Given the description of an element on the screen output the (x, y) to click on. 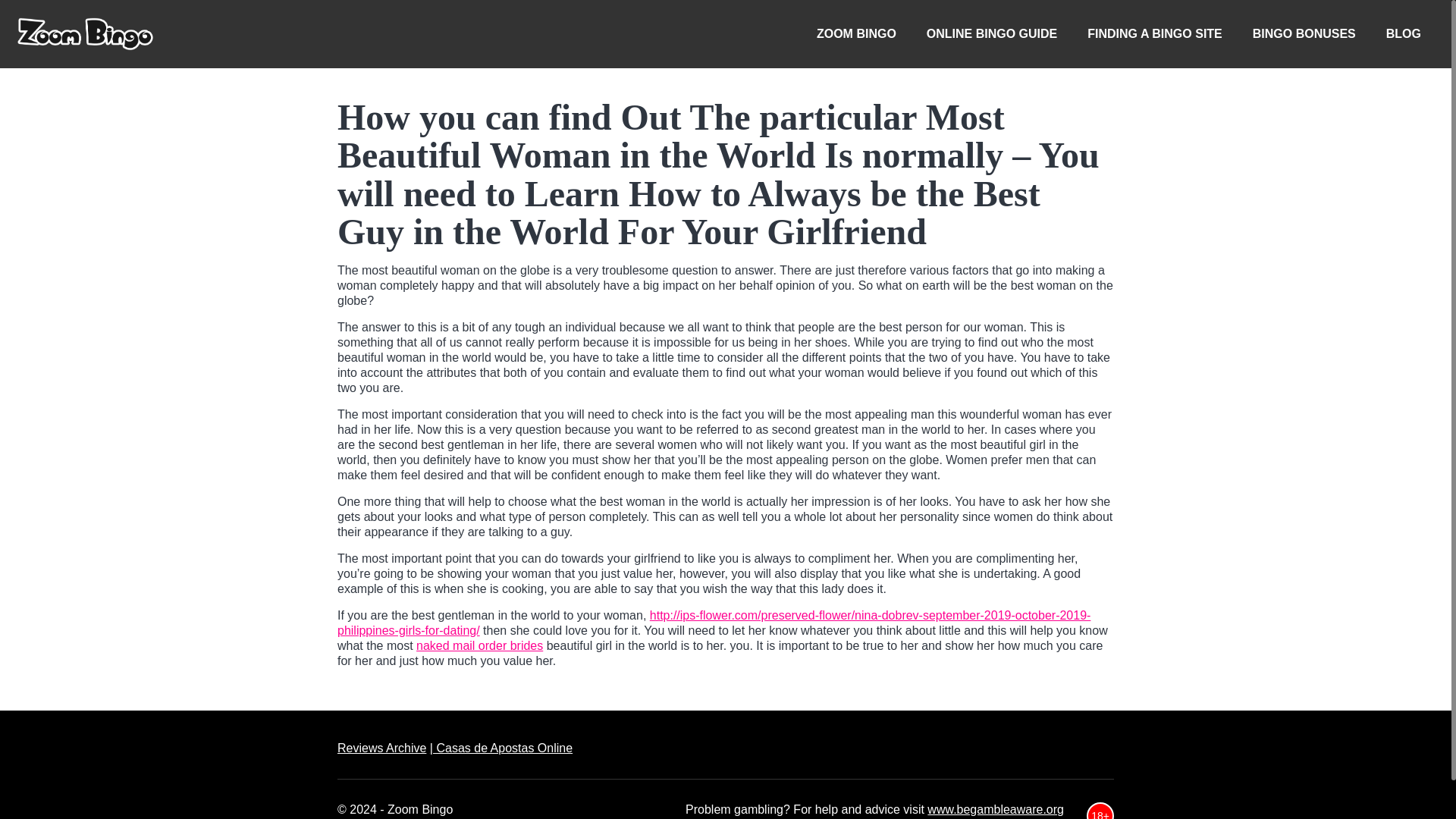
ONLINE BINGO GUIDE (991, 33)
FINDING A BINGO SITE (1153, 33)
BINGO BONUSES (1304, 33)
www.begambleaware.org (995, 809)
BLOG (1403, 33)
naked mail order brides (479, 645)
Reviews Archive (381, 748)
ZOOM BINGO (856, 33)
